Given the description of an element on the screen output the (x, y) to click on. 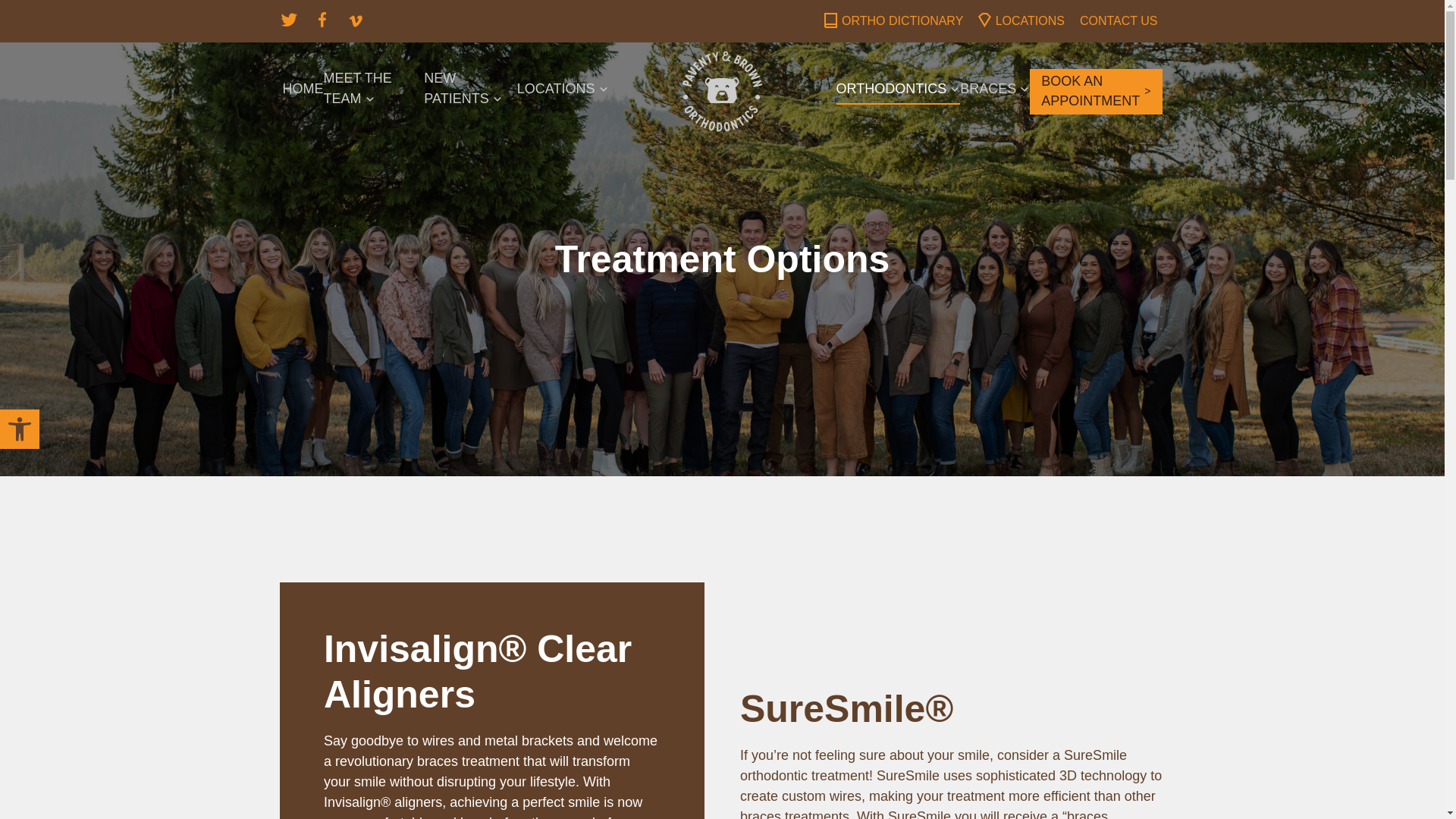
ORTHO DICTIONARY (901, 21)
CONTACT US (1118, 21)
MEET THE TEAM (373, 90)
LOCATIONS (1029, 21)
HOME (302, 91)
LOCATIONS (562, 91)
NEW PATIENTS (469, 90)
Accessibility Tools (19, 428)
Accessibility Tools (19, 428)
